Given the description of an element on the screen output the (x, y) to click on. 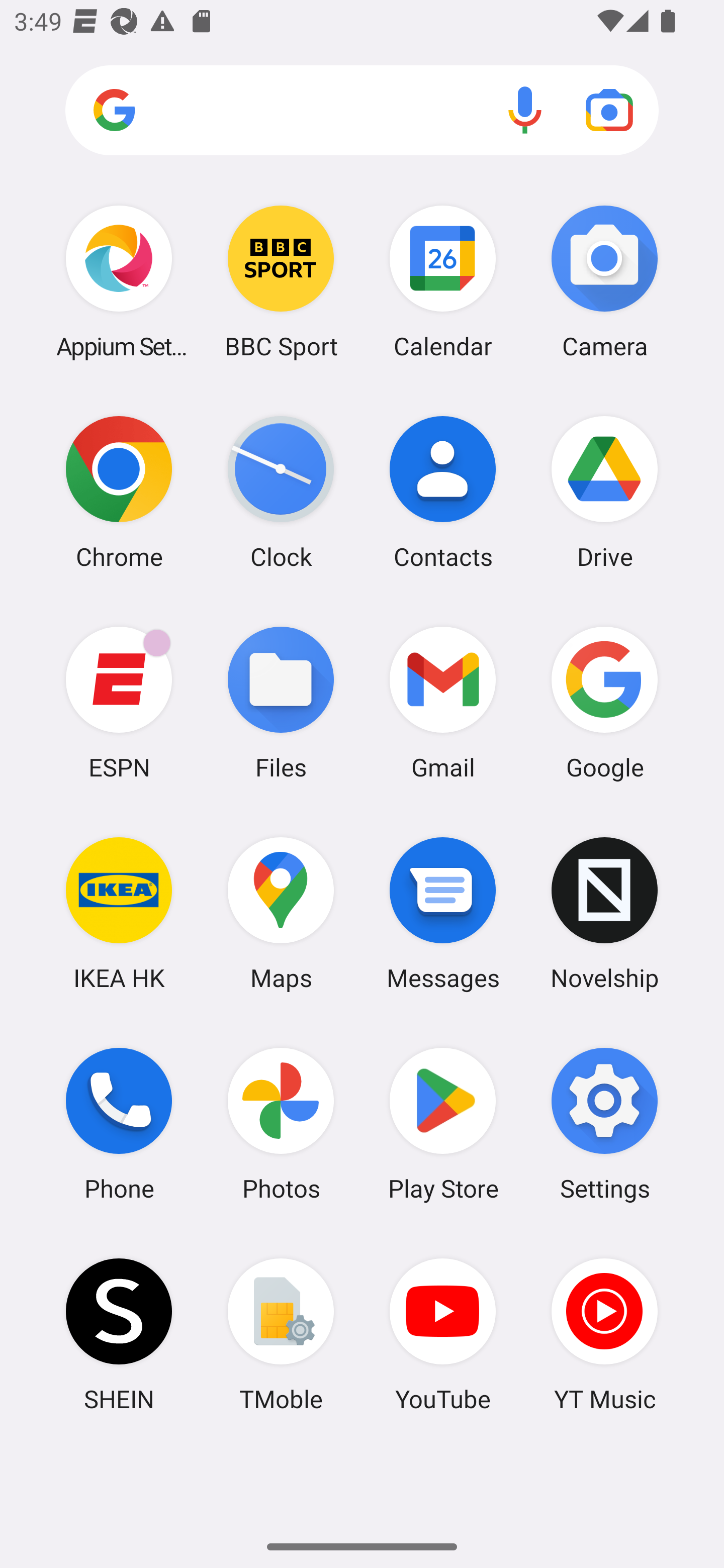
Search apps, web and more (361, 110)
Voice search (524, 109)
Google Lens (608, 109)
Appium Settings (118, 281)
BBC Sport (280, 281)
Calendar (443, 281)
Camera (604, 281)
Chrome (118, 492)
Clock (280, 492)
Contacts (443, 492)
Drive (604, 492)
ESPN ESPN has 3 notifications (118, 702)
Files (280, 702)
Gmail (443, 702)
Google (604, 702)
IKEA HK (118, 913)
Maps (280, 913)
Messages (443, 913)
Novelship (604, 913)
Phone (118, 1124)
Photos (280, 1124)
Play Store (443, 1124)
Settings (604, 1124)
SHEIN (118, 1334)
TMoble (280, 1334)
YouTube (443, 1334)
YT Music (604, 1334)
